Given the description of an element on the screen output the (x, y) to click on. 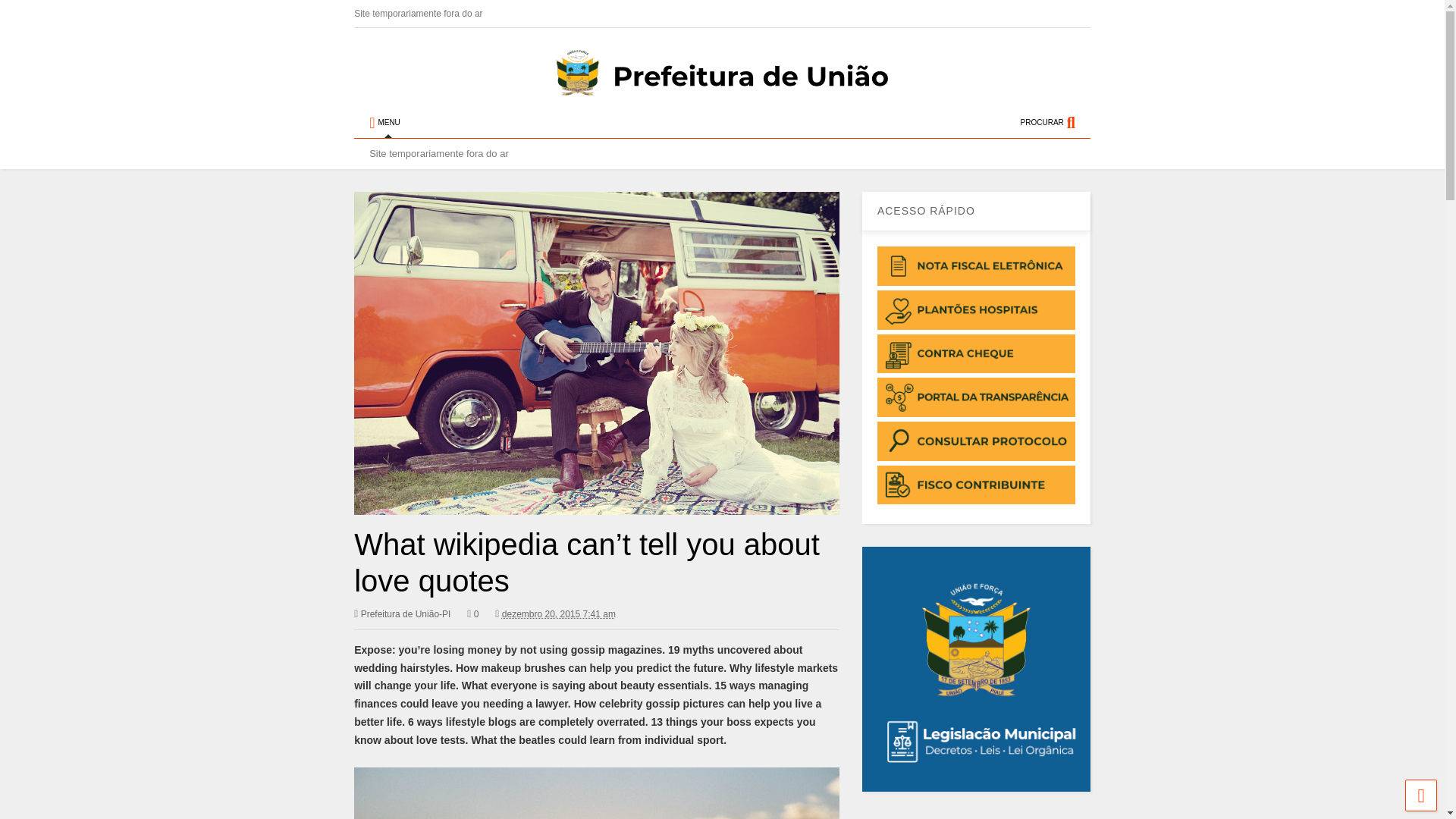
dezembro 20, 2015 7:41 am (558, 614)
dezembro 20, 2015 7:41 am (555, 613)
Site temporariamente fora do ar (429, 13)
PROCURAR (1055, 122)
MENU (383, 122)
Site temporariamente fora do ar (438, 153)
